Given the description of an element on the screen output the (x, y) to click on. 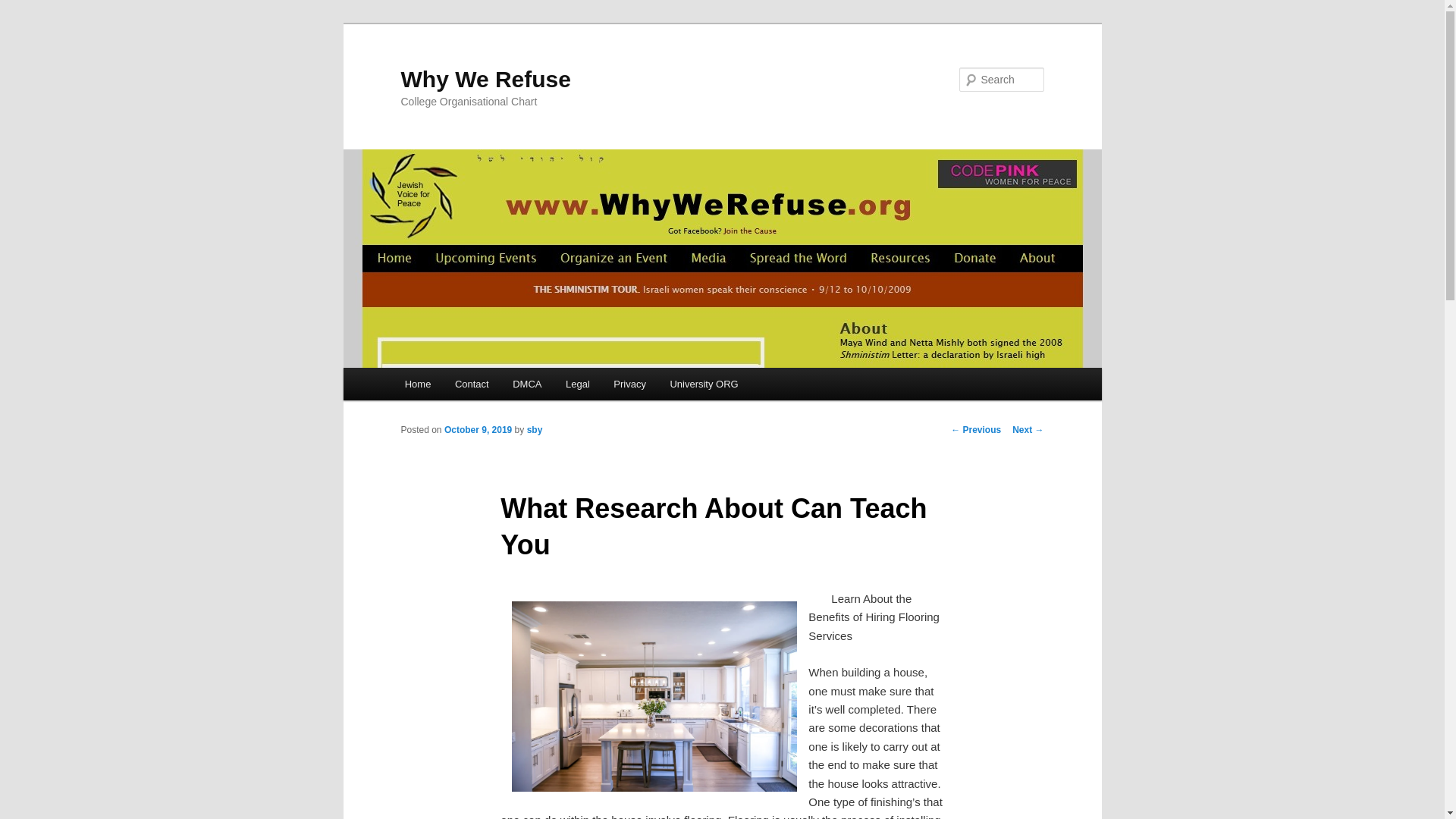
Privacy (630, 383)
Search (24, 8)
October 9, 2019 (478, 429)
Home (417, 383)
Contact (471, 383)
View all posts by sby (535, 429)
Search (21, 11)
DMCA (526, 383)
7:13 pm (478, 429)
